Given the description of an element on the screen output the (x, y) to click on. 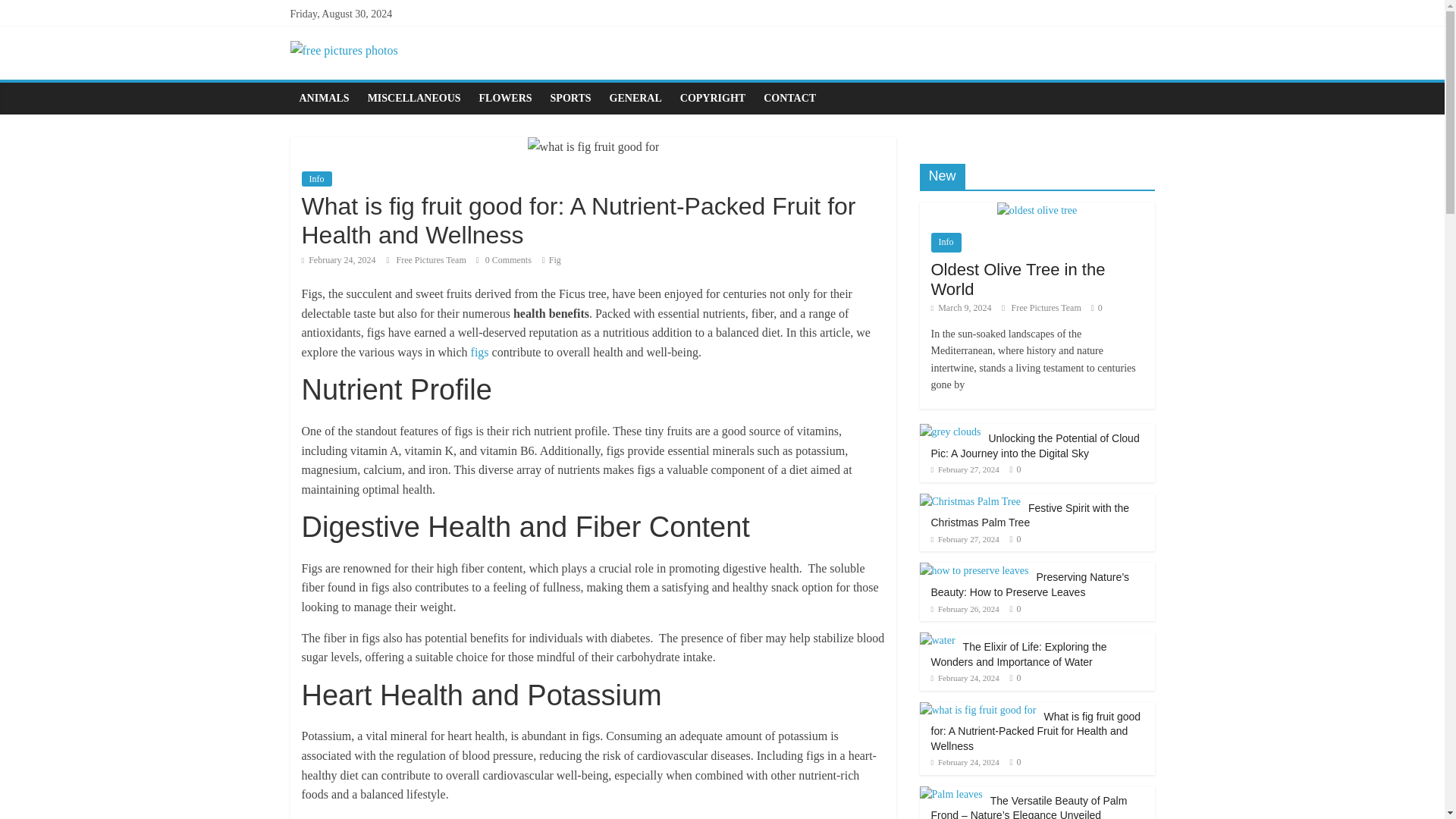
Festive Spirit with the Christmas Palm Tree (1030, 515)
figs (479, 351)
Free Pictures Team (1047, 307)
Oldest Olive Tree in the World (1018, 279)
Fig (554, 259)
Free Pictures Team (432, 259)
Info (316, 178)
9:37 am (964, 469)
